Given the description of an element on the screen output the (x, y) to click on. 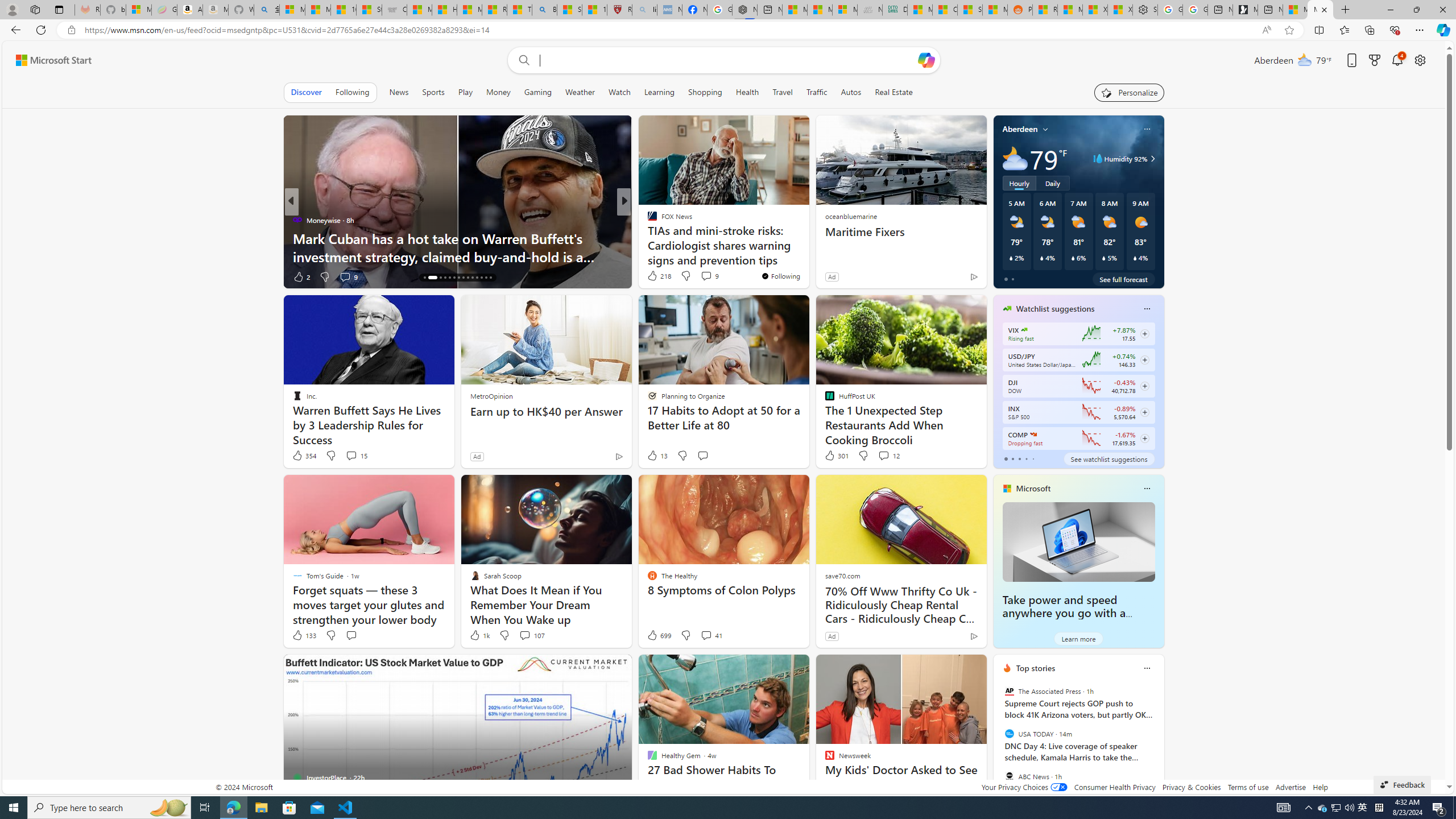
View comments 41 Comment (710, 634)
The Hearty Soul (647, 219)
View comments 41 Comment (705, 635)
Mostly cloudy (1014, 158)
699 Like (658, 634)
2 Like (301, 276)
